Given the description of an element on the screen output the (x, y) to click on. 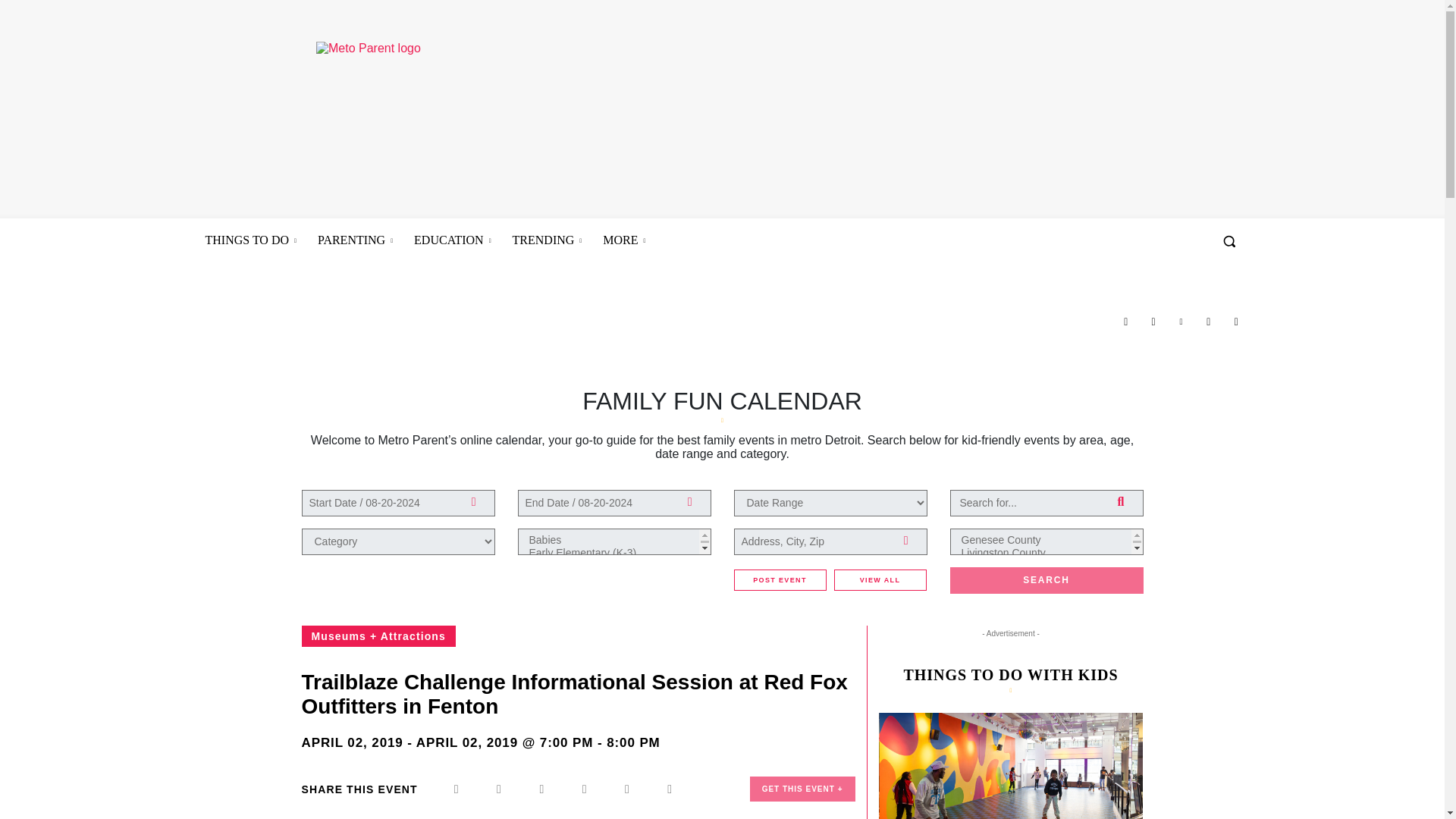
Instagram (1153, 320)
Facebook (1126, 320)
Youtube (1236, 320)
Search (1045, 580)
Pinterest (1180, 320)
Twitter (1209, 320)
